Given the description of an element on the screen output the (x, y) to click on. 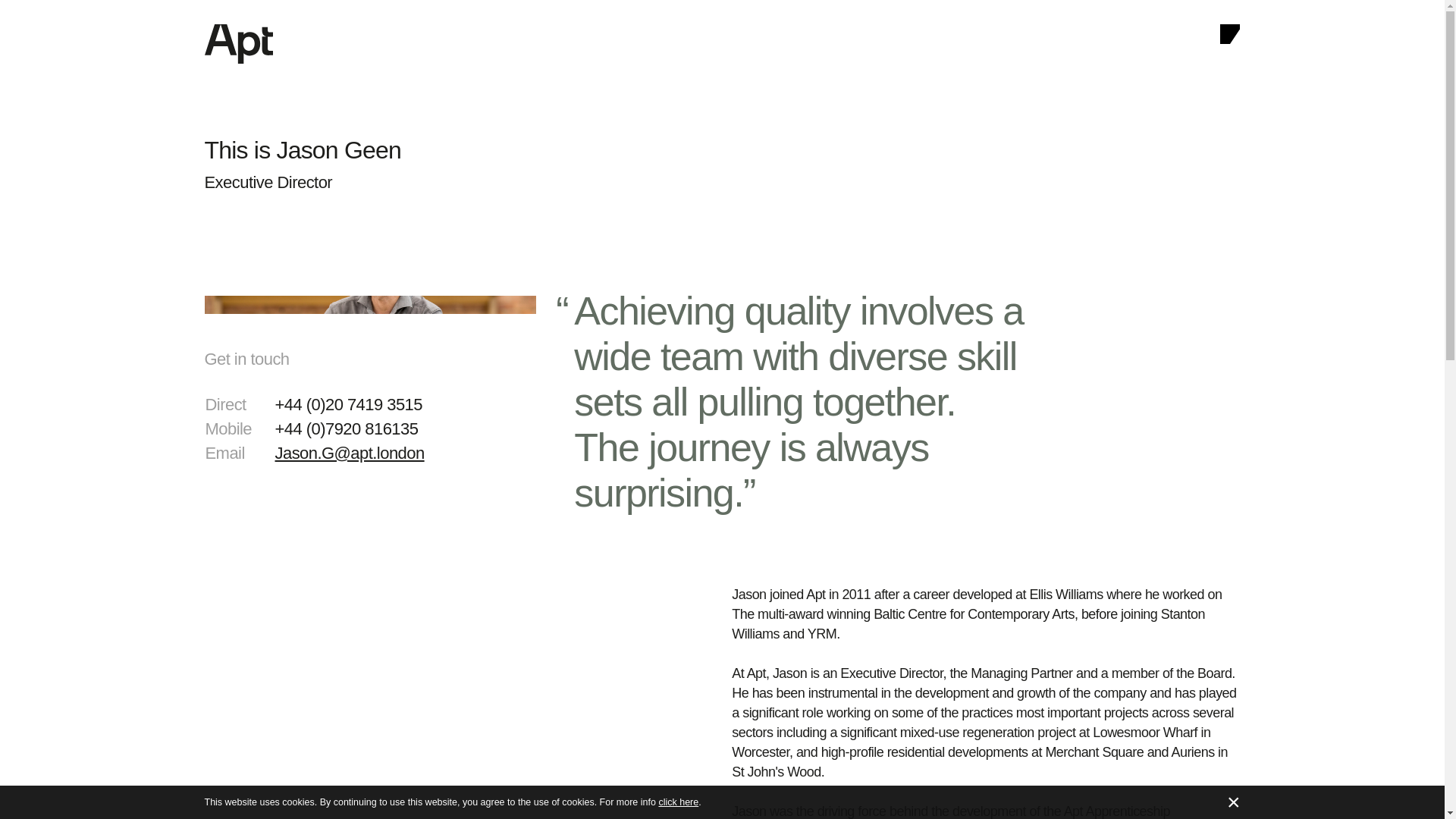
Intranet (260, 790)
Baako (1184, 790)
Instagram (1113, 681)
Linkedin (1108, 663)
Cookies (221, 790)
click here (678, 801)
Greenspace (1138, 790)
